Given the description of an element on the screen output the (x, y) to click on. 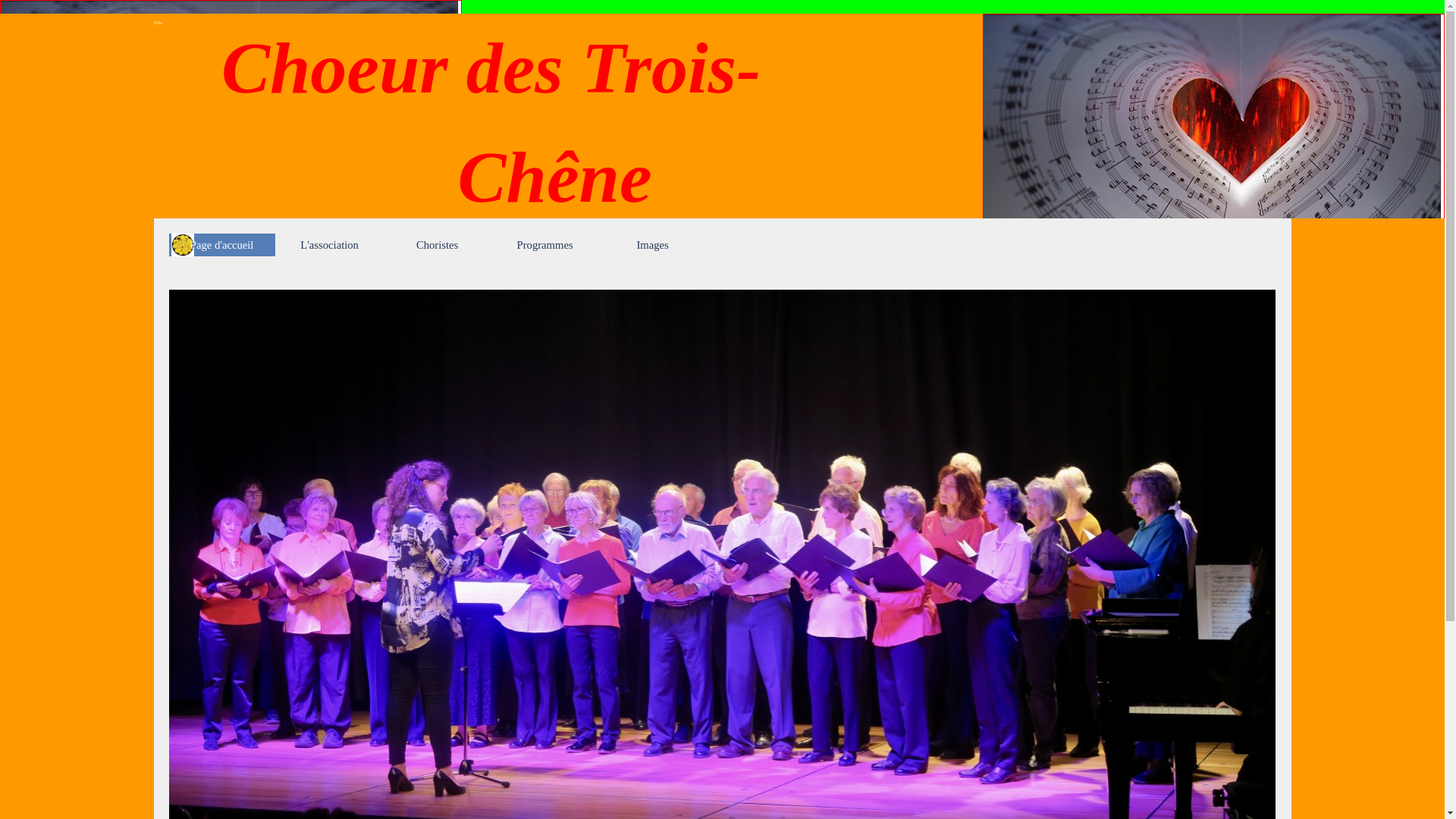
Page d'accueil Element type: text (221, 244)
